Given the description of an element on the screen output the (x, y) to click on. 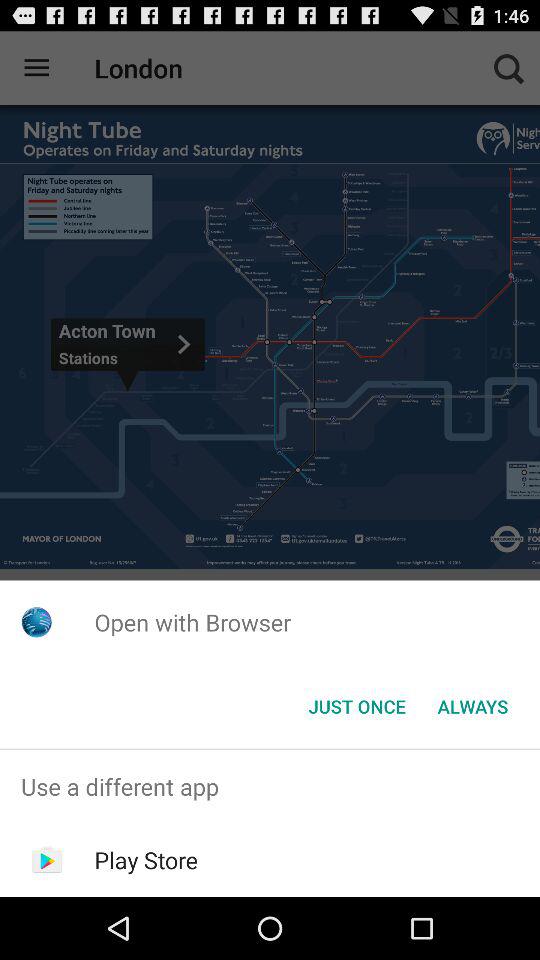
launch app below the use a different icon (146, 860)
